Given the description of an element on the screen output the (x, y) to click on. 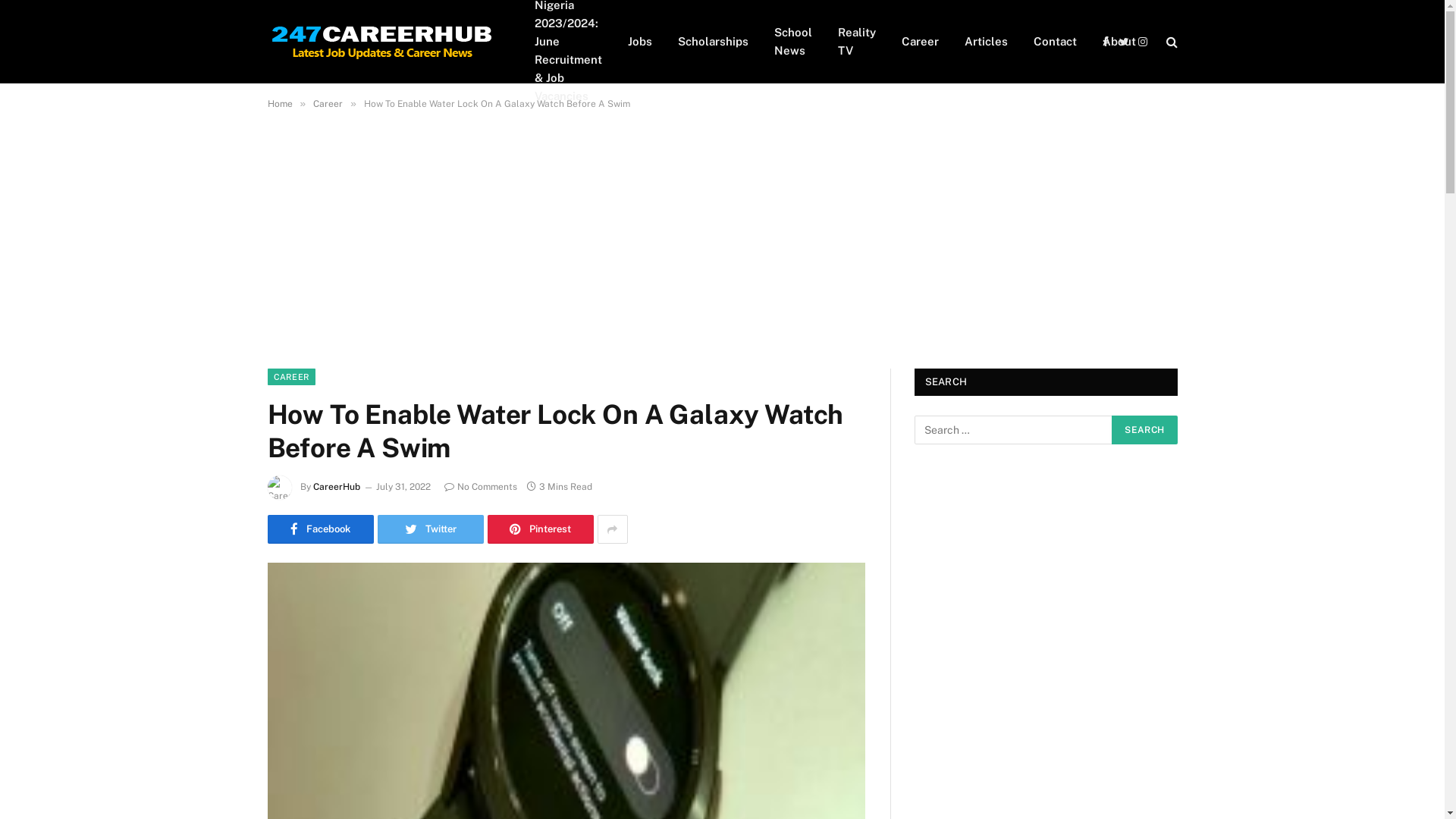
Scholarships Element type: text (712, 41)
Search Element type: text (1143, 429)
Contact Element type: text (1054, 41)
Jobs in Nigeria 2023/2024: June Recruitment & Job Vacancies Element type: text (568, 41)
Career Element type: text (327, 103)
Facebook Element type: text (1104, 41)
CAREER Element type: text (290, 376)
No Comments Element type: text (480, 486)
Advertisement Element type: hover (455, 230)
Articles Element type: text (984, 41)
Career Element type: text (919, 41)
Pinterest Element type: text (539, 528)
Facebook Element type: text (319, 528)
School News Element type: text (793, 41)
247CareerHub Element type: hover (380, 42)
Twitter Element type: text (430, 528)
Search Element type: hover (1170, 41)
Jobs Element type: text (639, 41)
About Element type: text (1118, 41)
Twitter Element type: text (1123, 41)
Show More Social Sharing Element type: hover (612, 528)
Reality TV Element type: text (856, 41)
Instagram Element type: text (1142, 41)
CareerHub Element type: text (335, 486)
Home Element type: text (278, 103)
